Given the description of an element on the screen output the (x, y) to click on. 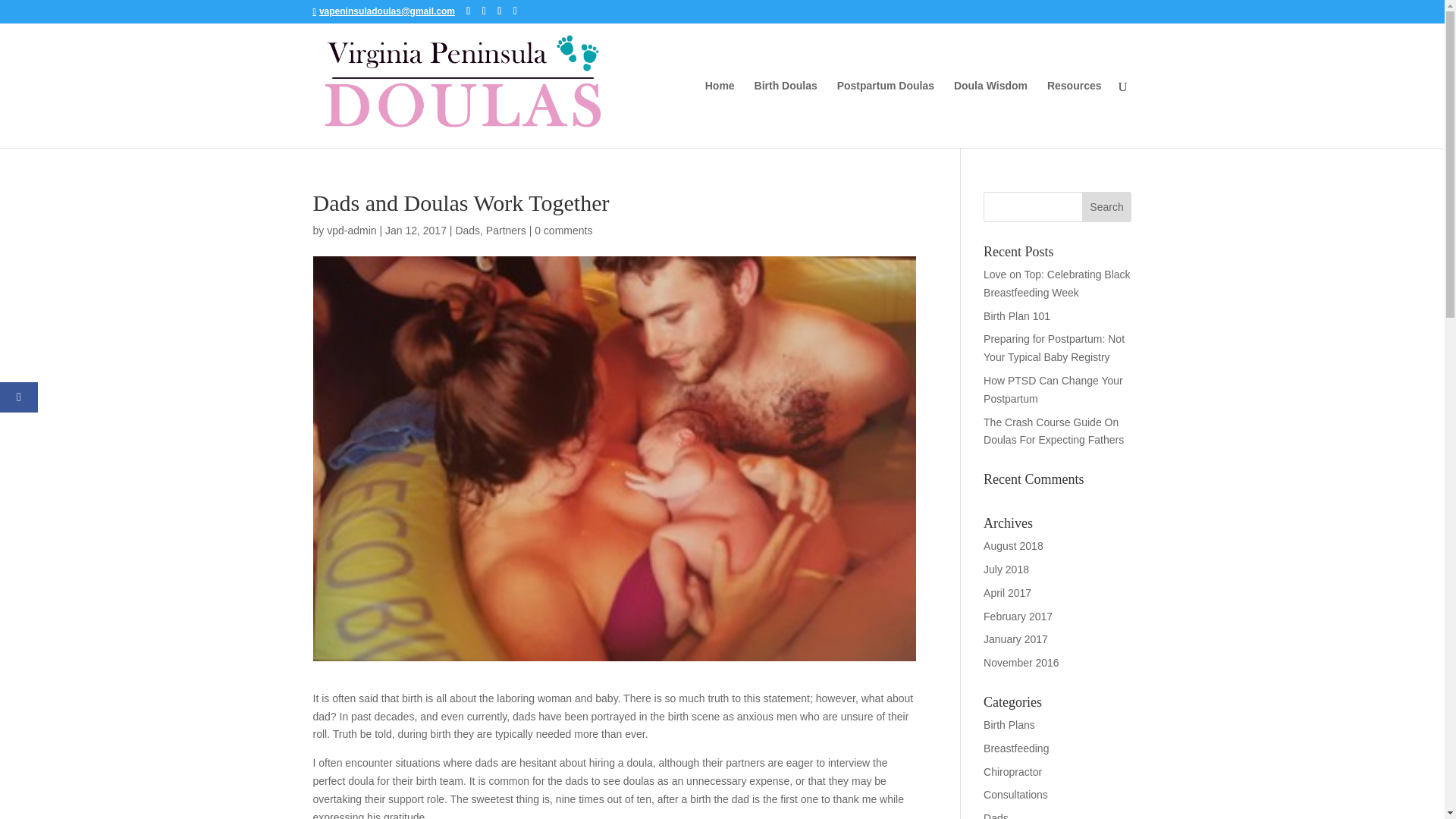
January 2017 (1016, 639)
Search (1106, 206)
Posts by vpd-admin (350, 230)
The Crash Course Guide On Doulas For Expecting Fathers (1054, 431)
Search (1106, 206)
Doula Wisdom (990, 114)
Partners (505, 230)
0 comments (563, 230)
Birth Plans (1009, 725)
Love on Top: Celebrating Black Breastfeeding Week (1057, 283)
Preparing for Postpartum: Not Your Typical Baby Registry (1054, 347)
November 2016 (1021, 662)
Birth Doulas (785, 114)
vpd-admin (350, 230)
July 2018 (1006, 569)
